Given the description of an element on the screen output the (x, y) to click on. 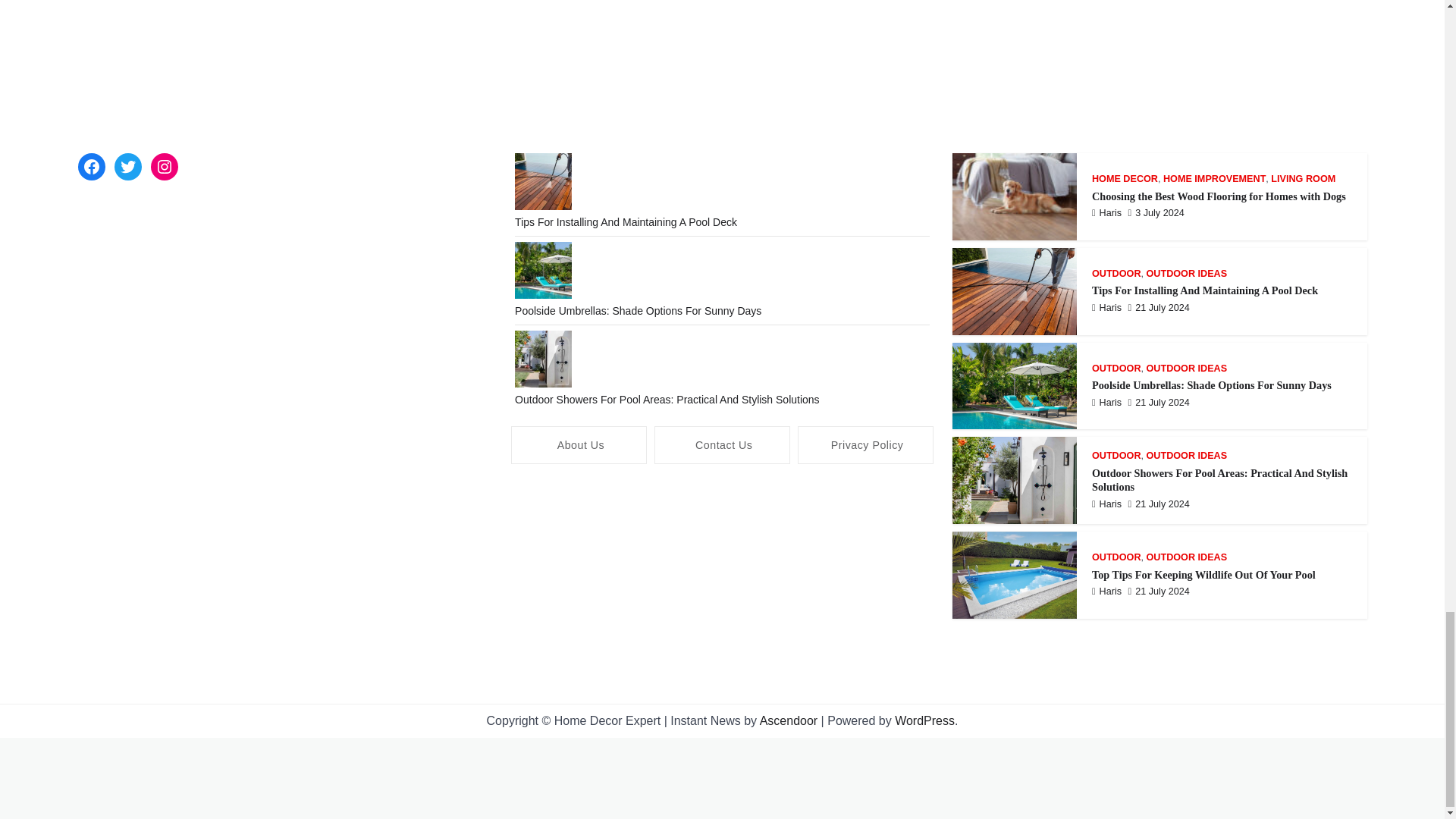
Twitter (127, 166)
Advertisement (721, 779)
Poolside Umbrellas: Shade Options For Sunny Days (638, 310)
About Us (578, 444)
Instagram (163, 166)
Advertisement (721, 61)
Contact Us (721, 444)
Tips For Installing And Maintaining A Pool Deck (625, 222)
Advertisement (722, 590)
Facebook (90, 166)
